Given the description of an element on the screen output the (x, y) to click on. 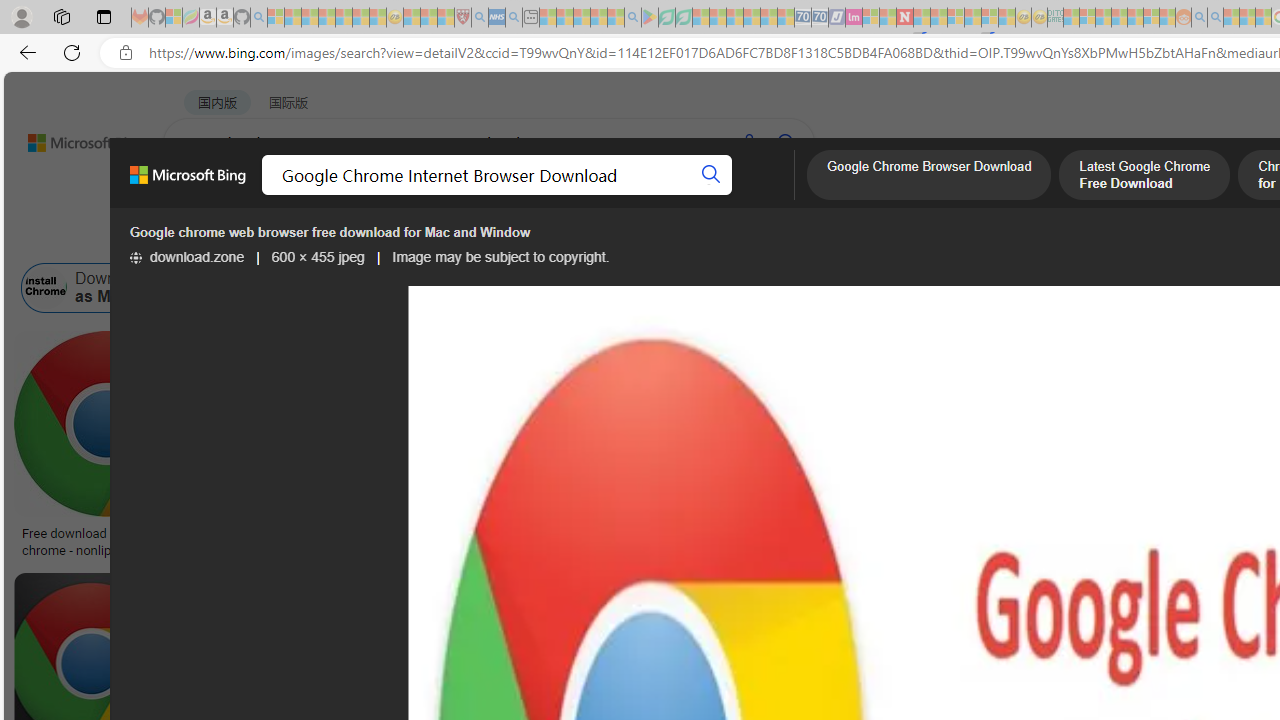
download.zone (187, 257)
People (521, 237)
MY BING (276, 195)
Layout (443, 237)
Watch video (490, 348)
